Given the description of an element on the screen output the (x, y) to click on. 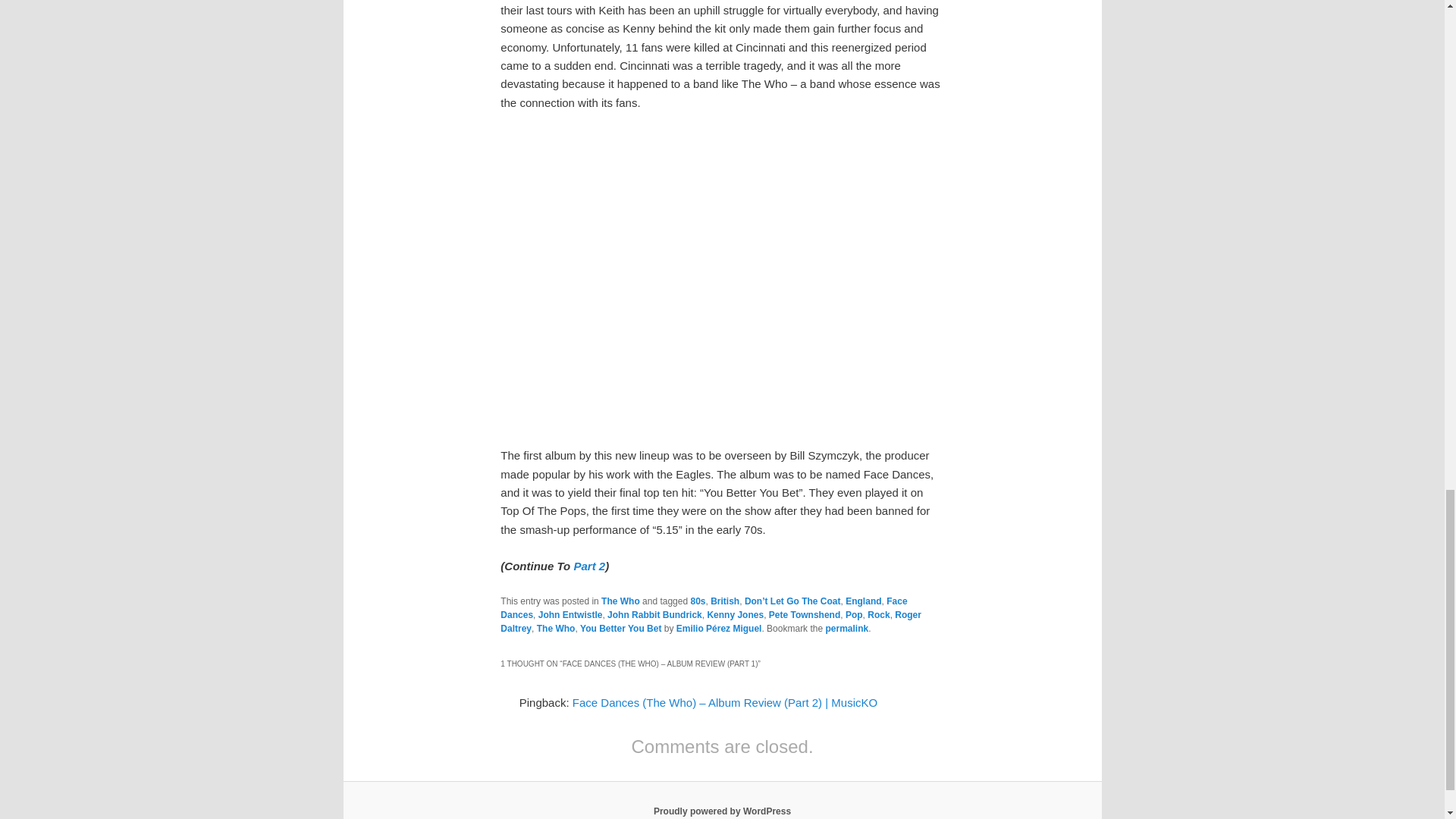
Rock (878, 614)
British (724, 601)
Proudly powered by WordPress (721, 810)
You Better You Bet (620, 628)
Pete Townshend (804, 614)
Pop (854, 614)
Roger Daltrey (710, 621)
80s (697, 601)
John Rabbit Bundrick (654, 614)
Kenny Jones (734, 614)
The Who (620, 601)
John Entwistle (570, 614)
permalink (846, 628)
The Who (556, 628)
Part 2 (589, 565)
